Given the description of an element on the screen output the (x, y) to click on. 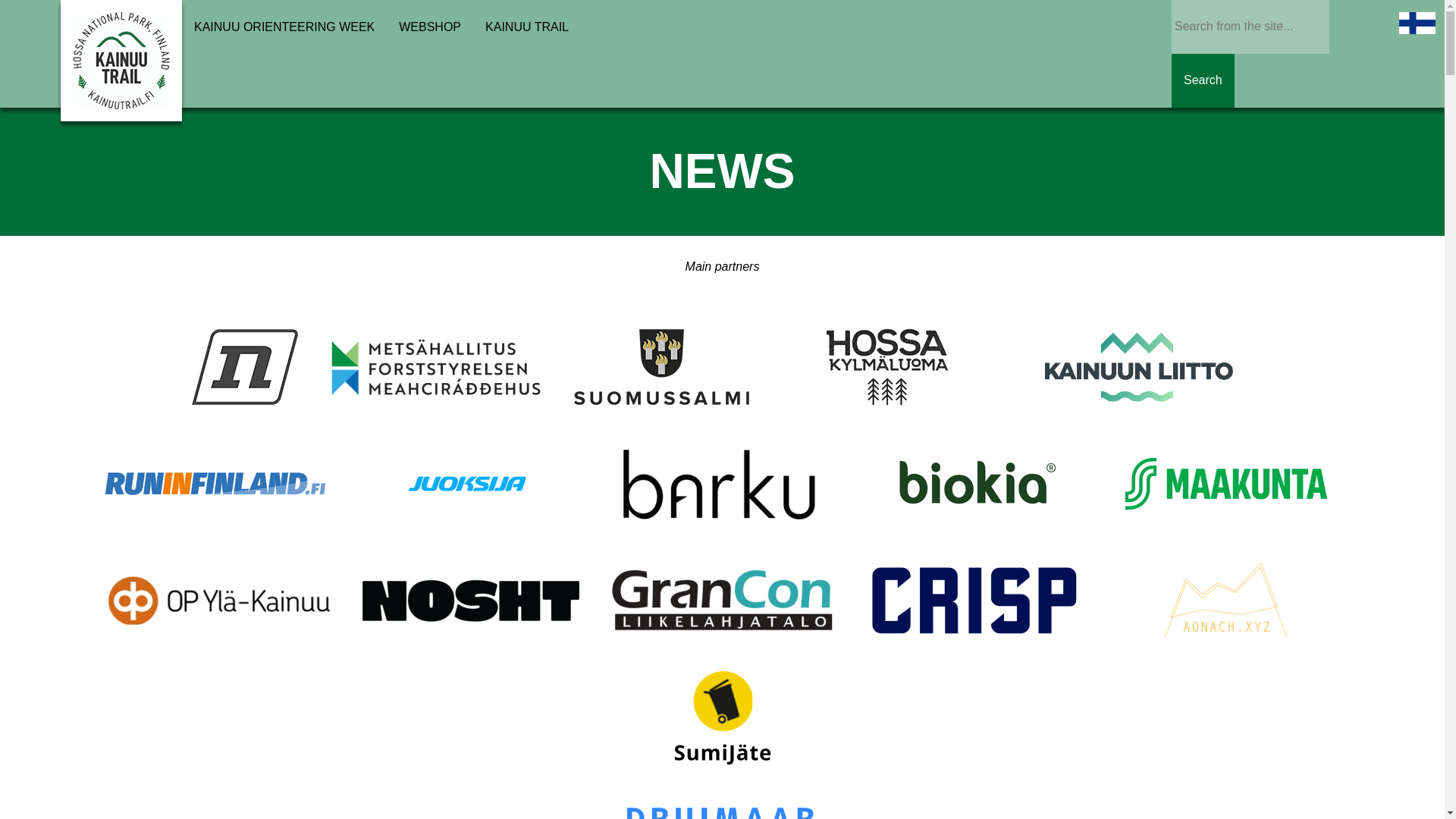
KT24-Barku-verkkosivu (718, 484)
Search (1203, 80)
WEBSHOP (430, 27)
Biokia (973, 484)
KT24-SumiJate-verkkosivu (721, 718)
KT24-Druimaar-verkkosivu (719, 804)
KAINUU ORIENTEERING WEEK (284, 27)
KT24-Aonach-logo (1225, 601)
KT23-Nosht (469, 601)
S-Maakunta (1225, 485)
KAINUU TRAIL (526, 27)
KT23-Crisp (973, 601)
